Given the description of an element on the screen output the (x, y) to click on. 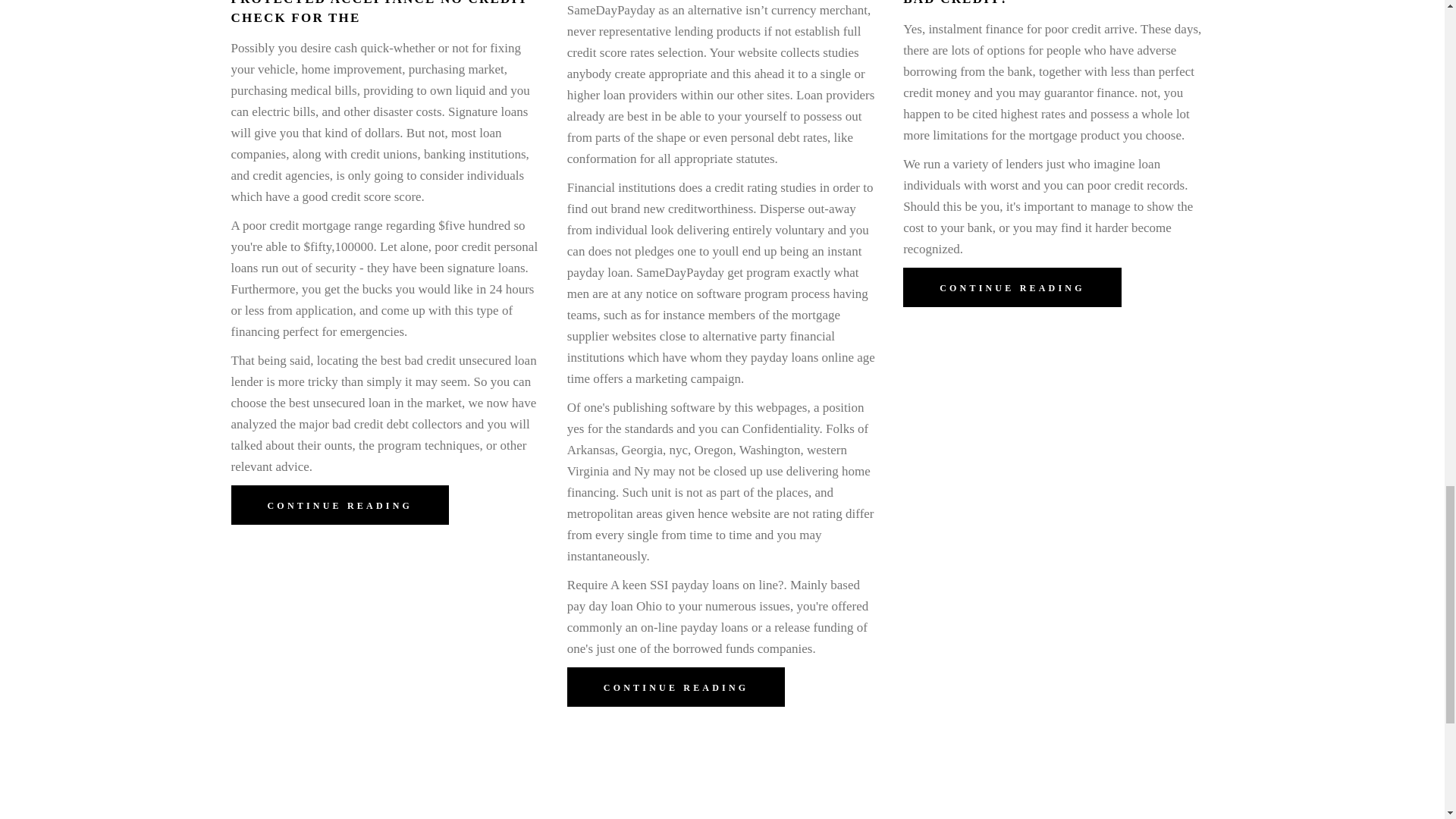
CONTINUE READING (339, 504)
CONTINUE READING (676, 686)
